Given the description of an element on the screen output the (x, y) to click on. 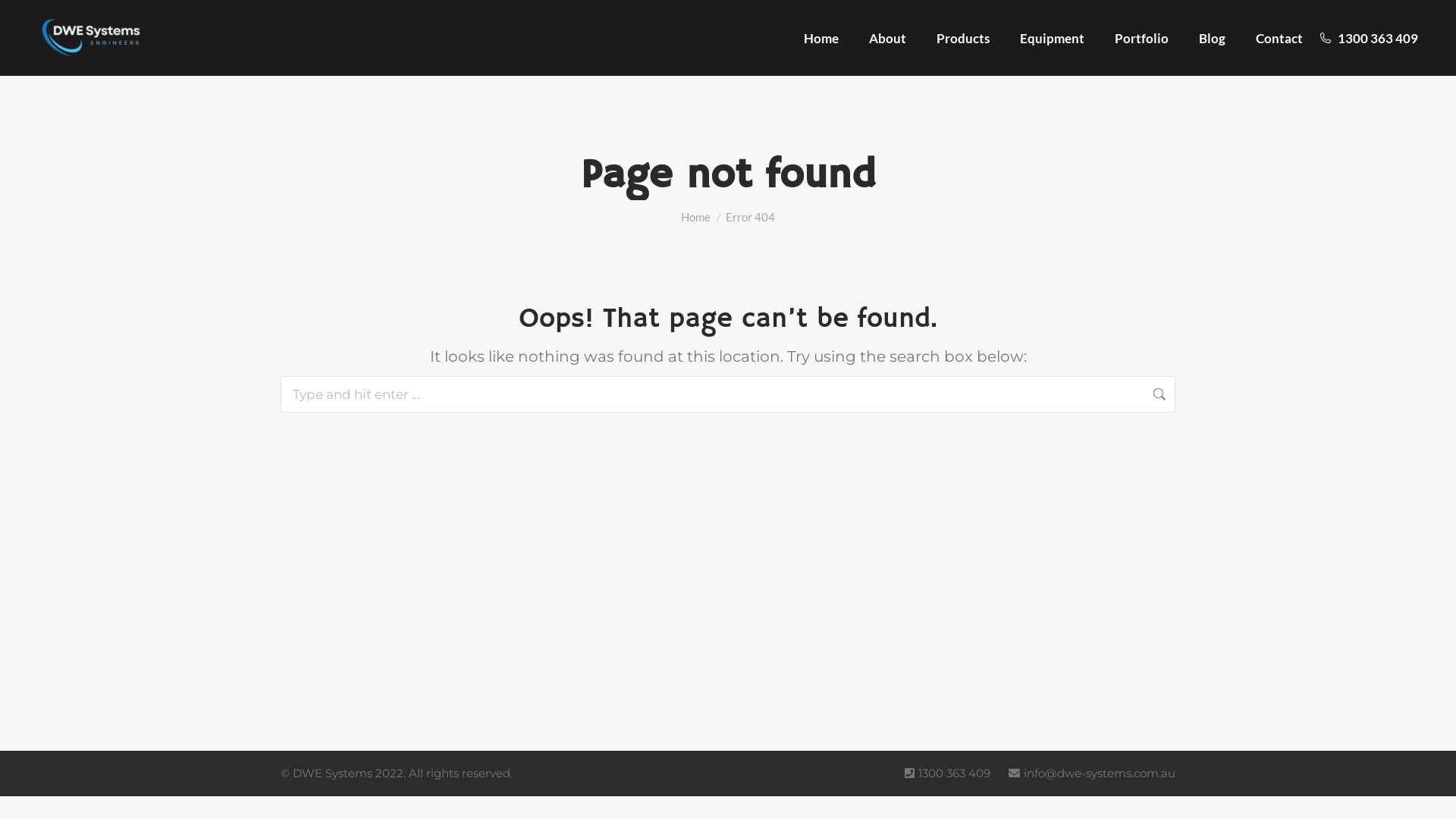
About Element type: text (887, 37)
Equipment Element type: text (1051, 37)
Home Element type: text (820, 37)
Contact Element type: text (1278, 37)
Products Element type: text (962, 37)
Blog Element type: text (1211, 37)
Portfolio Element type: text (1141, 37)
Home Element type: text (695, 216)
Go! Element type: text (1199, 392)
